Given the description of an element on the screen output the (x, y) to click on. 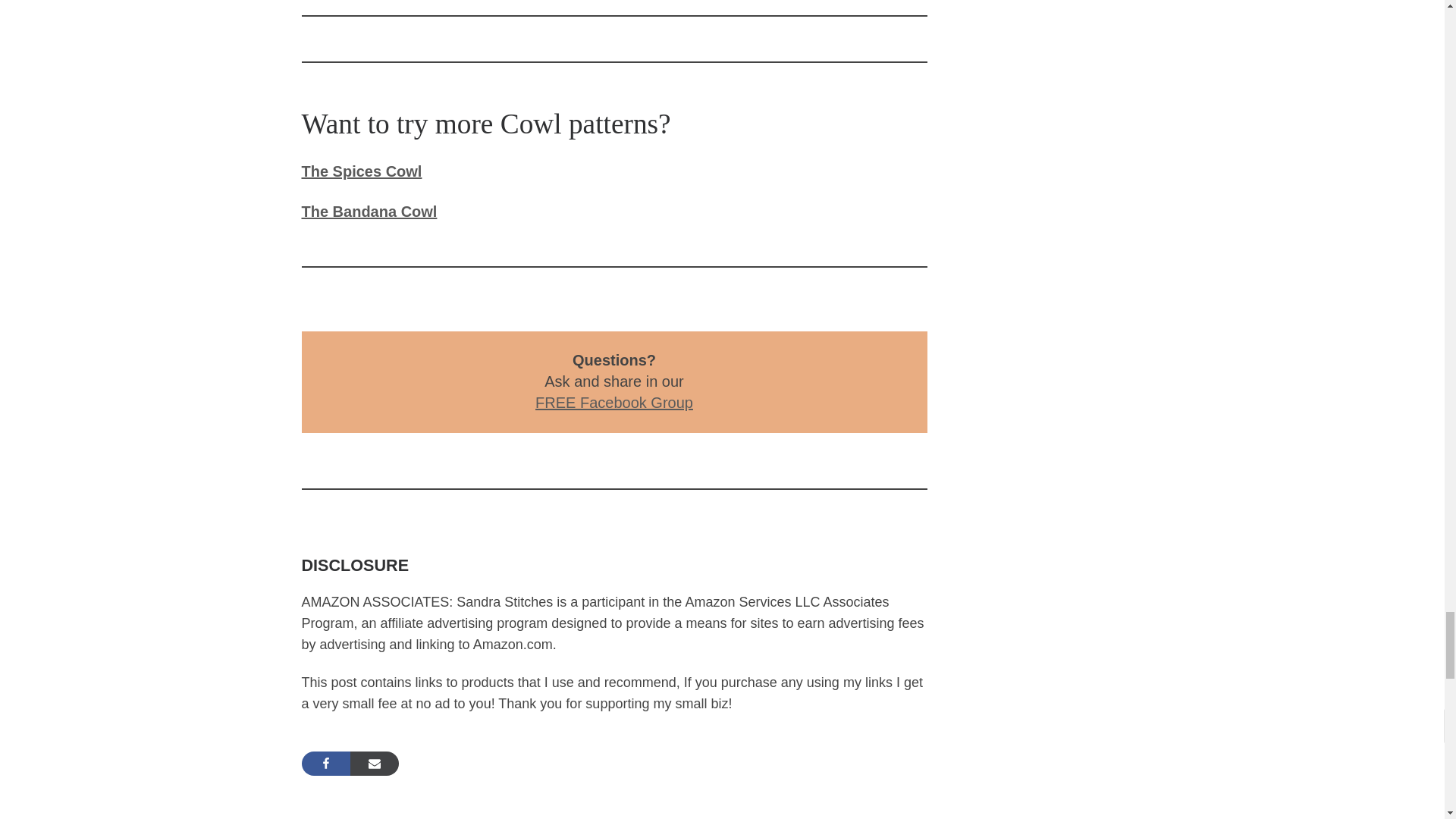
Share via Email (374, 763)
Share on Facebook (325, 763)
